Given the description of an element on the screen output the (x, y) to click on. 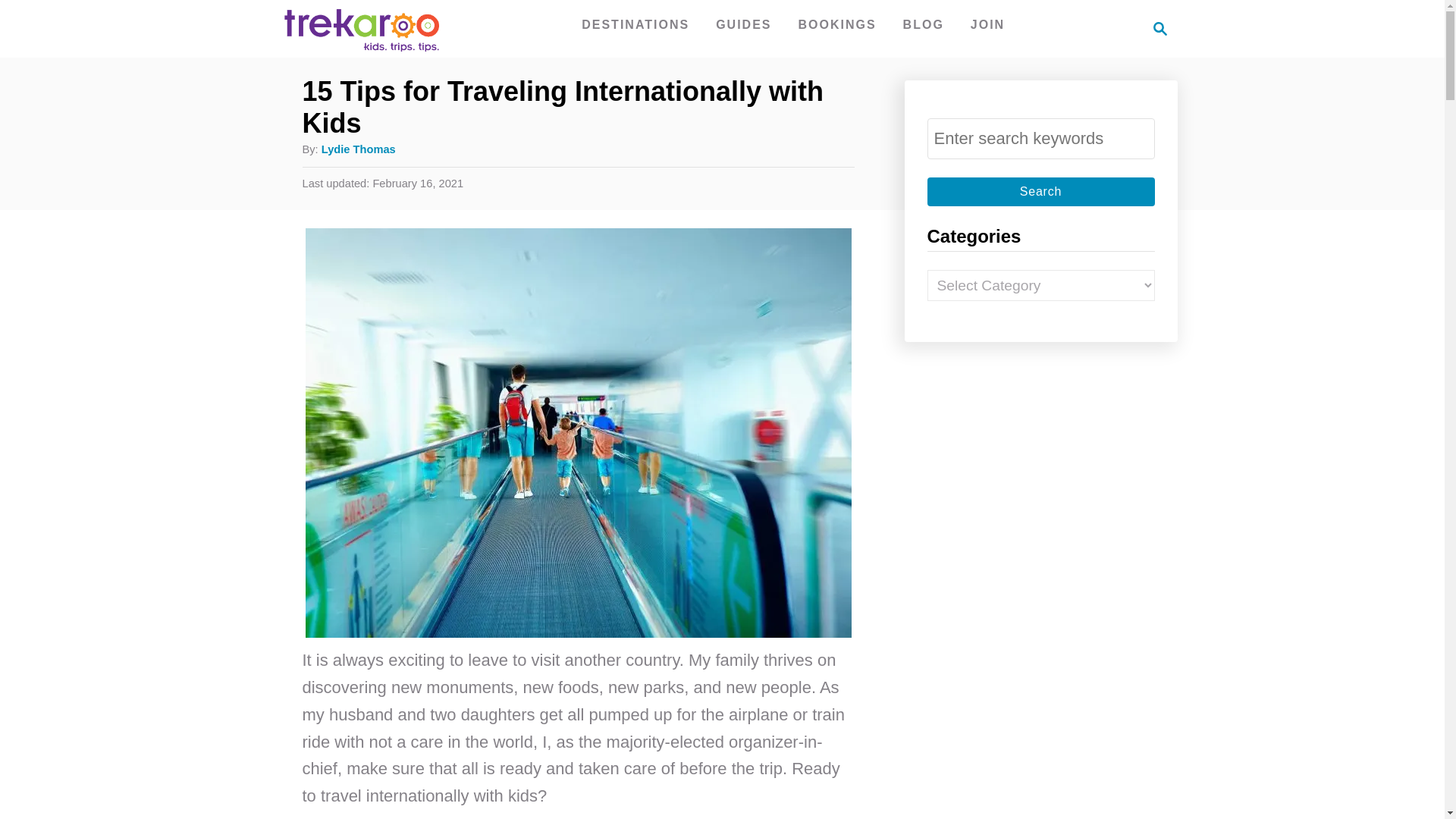
family vacation destinations (1155, 28)
find and create guides for your family trip (635, 24)
GUIDES (742, 24)
Magnifying Glass (742, 24)
BLOG (1160, 28)
travel stories and articles (923, 24)
DESTINATIONS (923, 24)
JOIN (635, 24)
Trekaroo Family Travel Blog (986, 24)
